Given the description of an element on the screen output the (x, y) to click on. 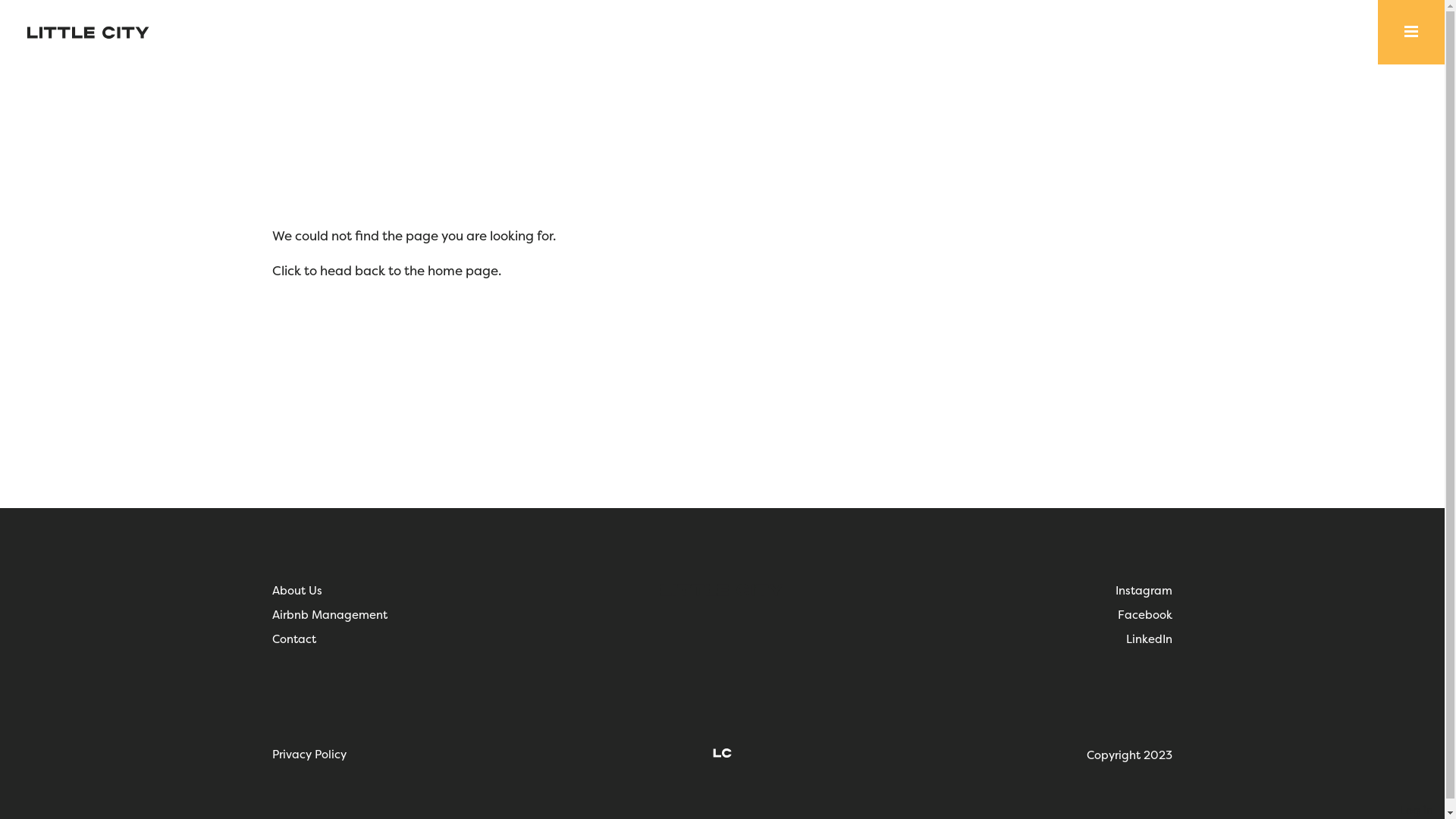
About Us Element type: text (296, 590)
Privacy Policy Element type: text (308, 754)
LinkedIn Element type: text (1149, 639)
Log in Element type: text (1416, 810)
Airbnb Management Element type: text (328, 614)
Facebook Element type: text (1144, 614)
Contact Element type: text (293, 639)
home Element type: text (444, 271)
Instagram Element type: text (1143, 590)
